Given the description of an element on the screen output the (x, y) to click on. 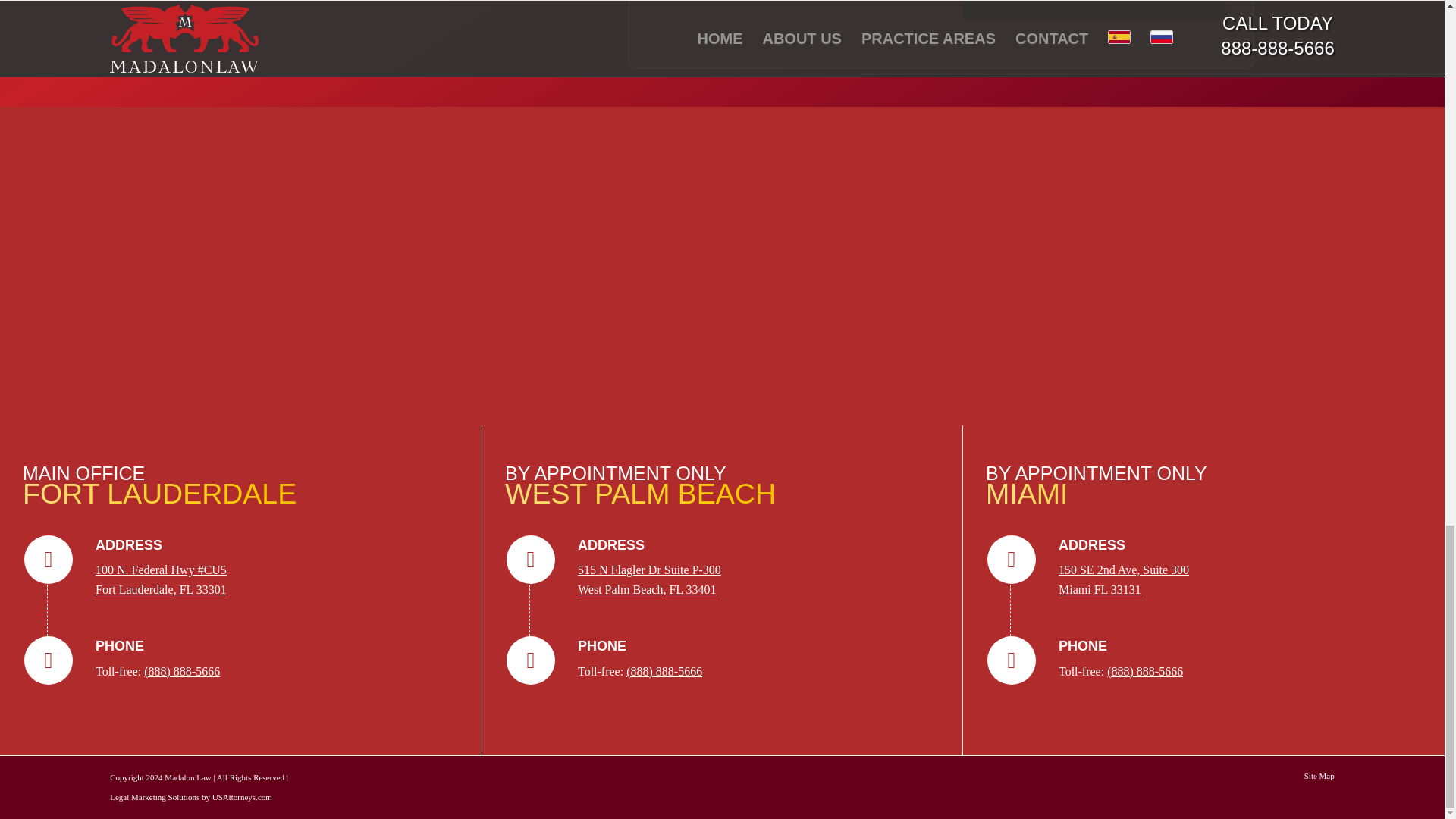
Site Map (1319, 775)
USAttorneys.com (242, 796)
Legal Marketing Solutions (649, 579)
